Given the description of an element on the screen output the (x, y) to click on. 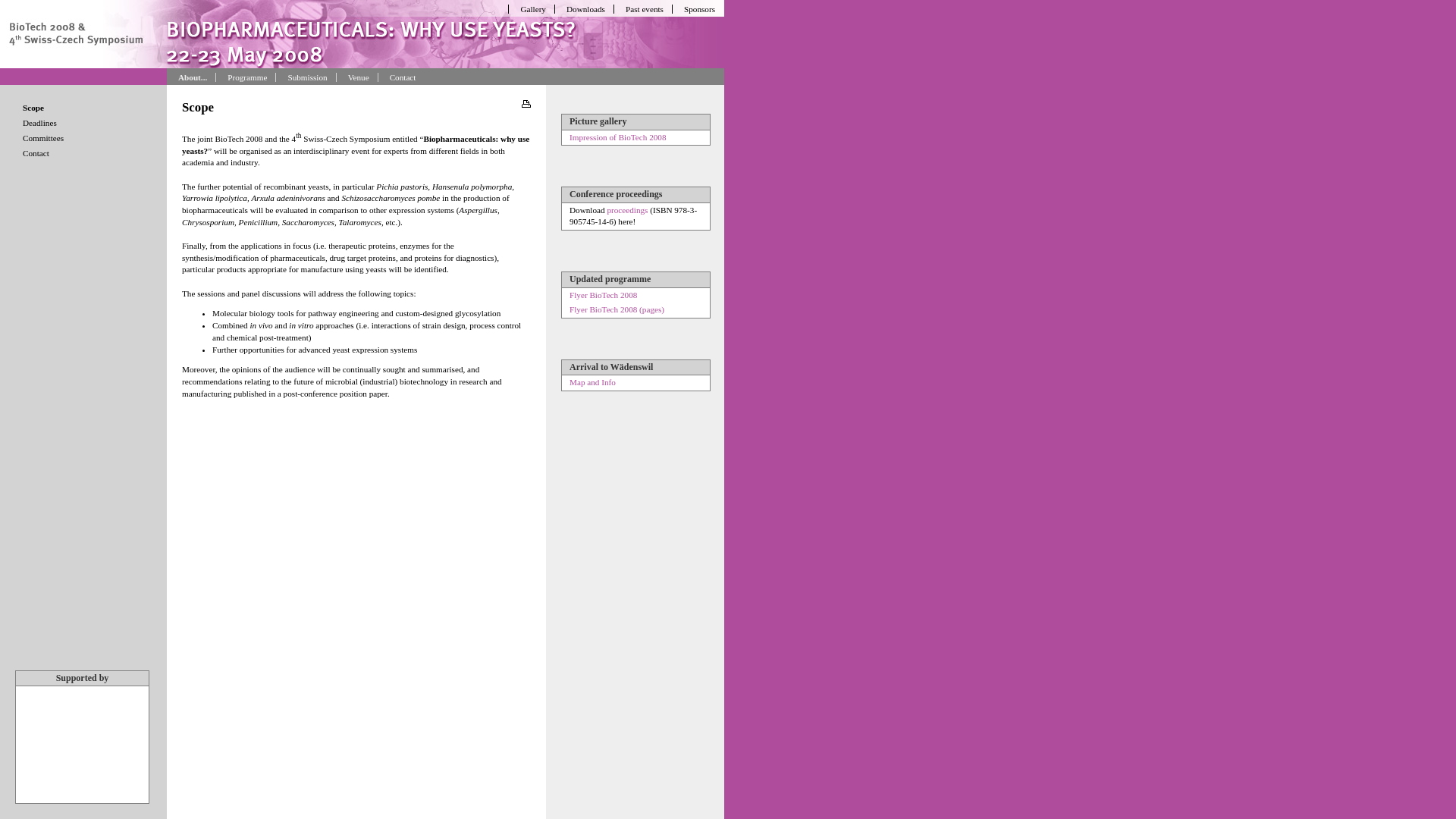
Contact Element type: text (87, 152)
Sponsors Element type: text (695, 8)
Downloads Element type: text (582, 8)
Committees Element type: text (87, 137)
proceedings Element type: text (626, 209)
Map and Info Element type: text (592, 381)
Scope Element type: text (87, 107)
Submission Element type: text (303, 76)
Impression of BioTech 2008 Element type: text (617, 136)
Past events Element type: text (640, 8)
About... Element type: text (189, 76)
Flyer BioTech 2008 (pages) Element type: text (616, 308)
Deadlines Element type: text (87, 122)
Flyer BioTech 2008 Element type: text (603, 294)
Venue Element type: text (354, 76)
Contact Element type: text (399, 76)
Gallery Element type: text (529, 8)
Programme Element type: text (243, 76)
